Given the description of an element on the screen output the (x, y) to click on. 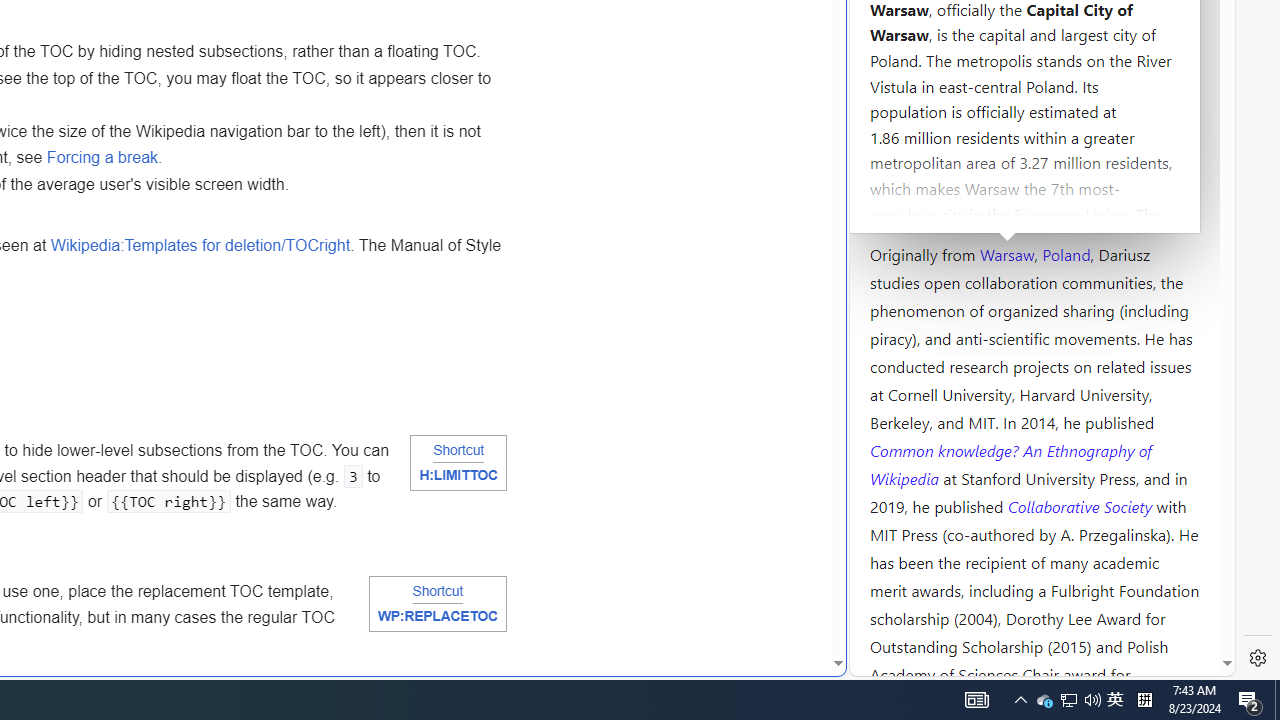
Poland (1065, 253)
